Given the description of an element on the screen output the (x, y) to click on. 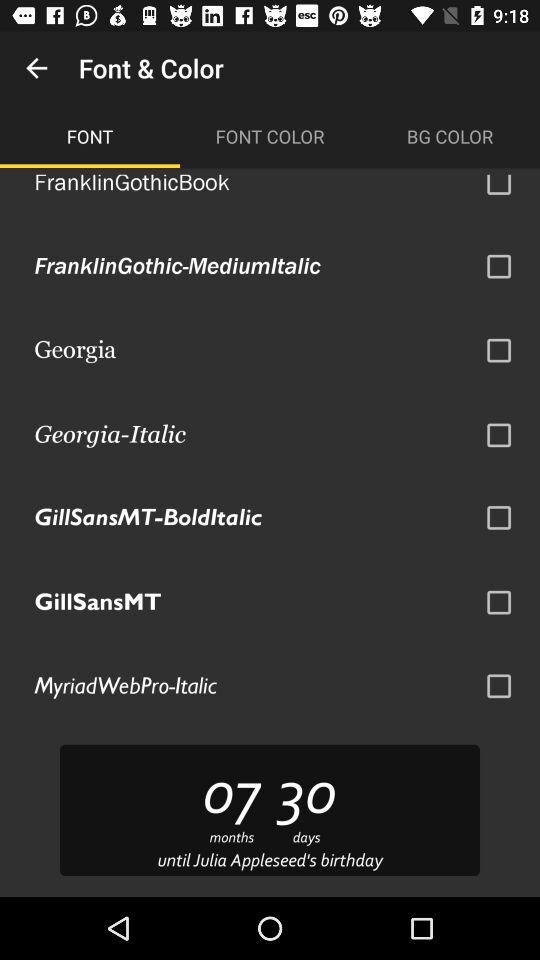
open the app next to the font & color icon (36, 68)
